Given the description of an element on the screen output the (x, y) to click on. 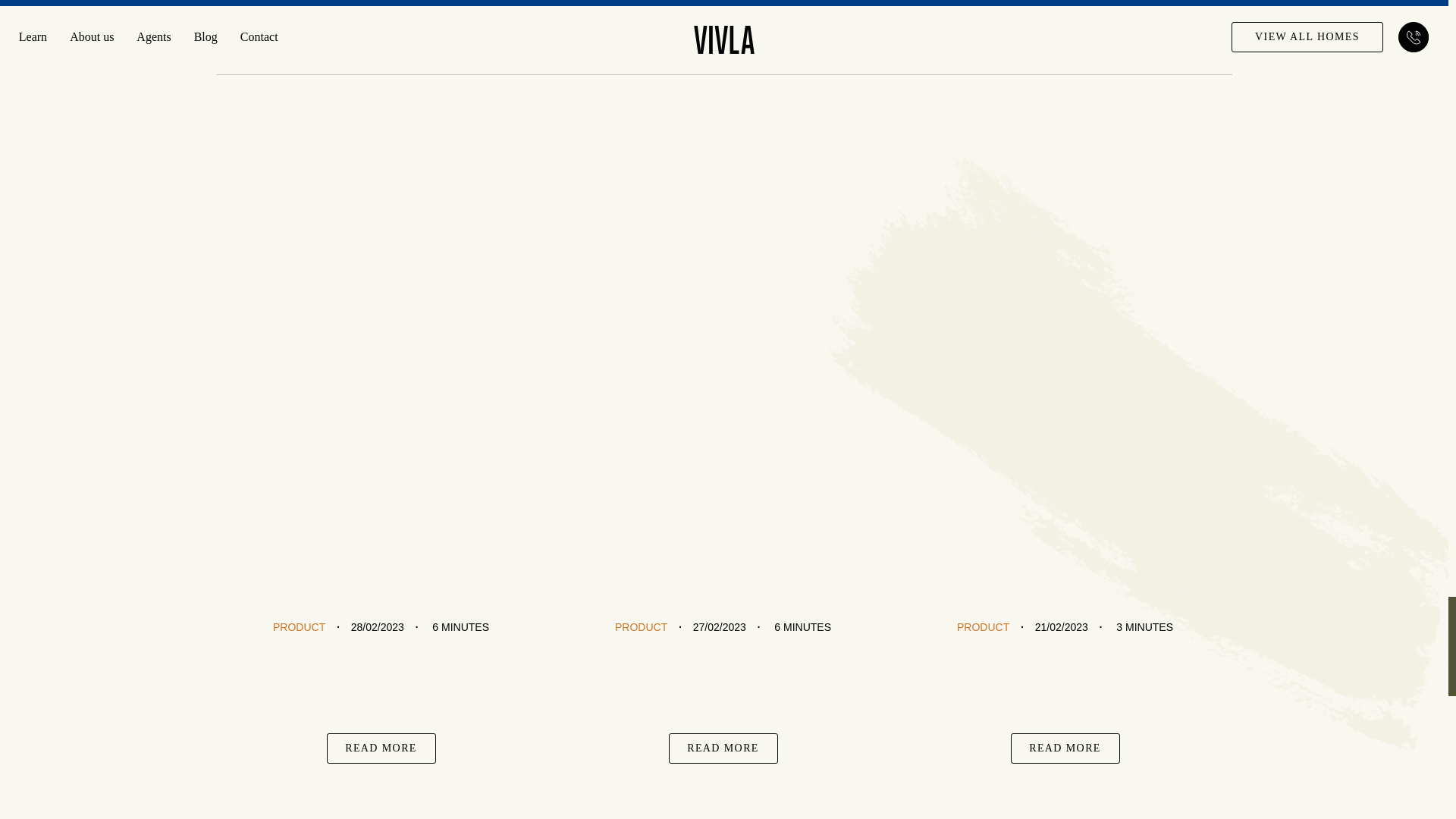
READ MORE (1064, 748)
READ MORE (380, 748)
READ MORE (722, 748)
